Given the description of an element on the screen output the (x, y) to click on. 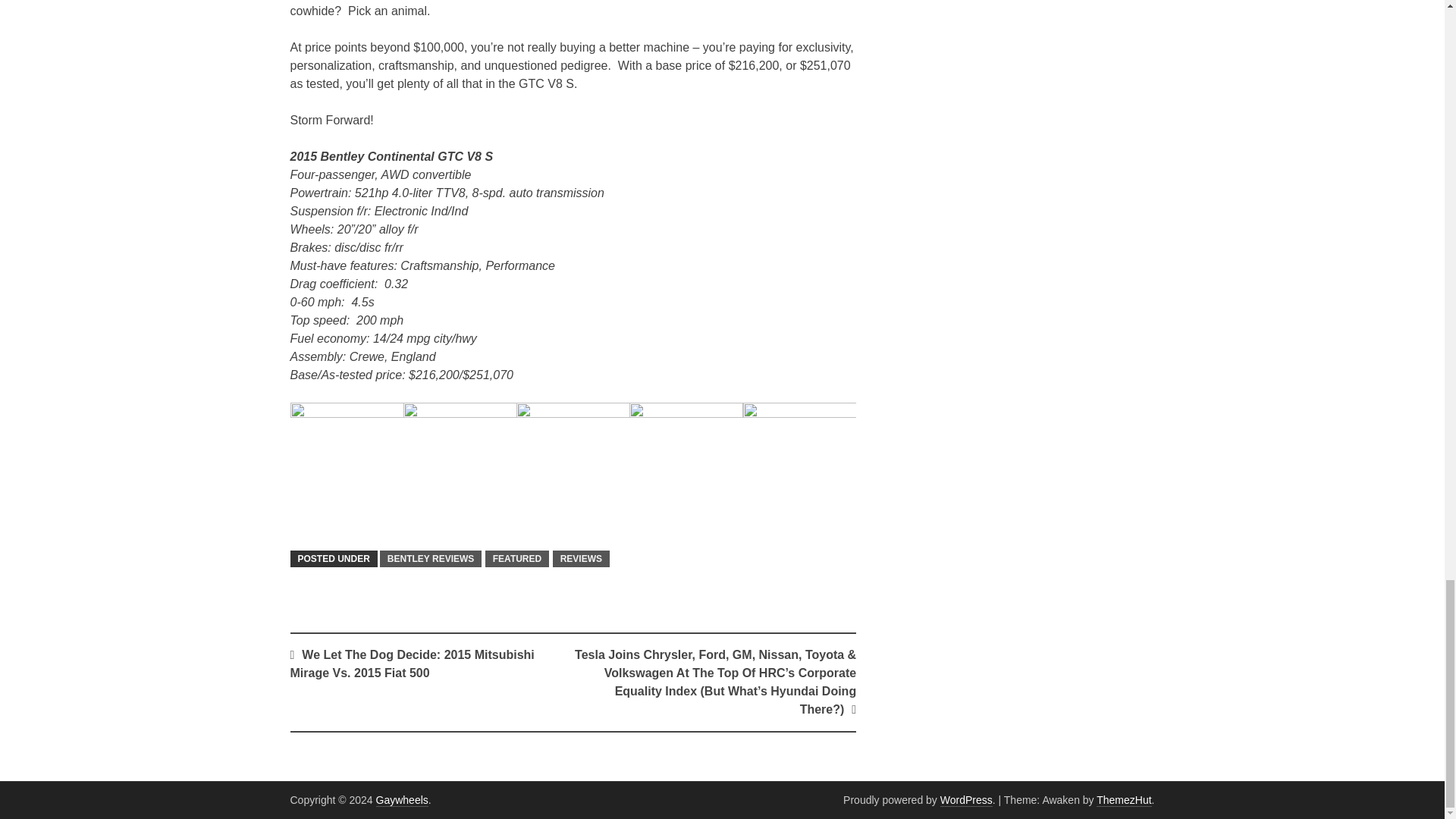
Gaywheels (401, 799)
FEATURED (516, 558)
WordPress (966, 799)
WordPress (966, 799)
Gaywheels (401, 799)
REVIEWS (581, 558)
BENTLEY REVIEWS (430, 558)
ThemezHut (1123, 799)
